Given the description of an element on the screen output the (x, y) to click on. 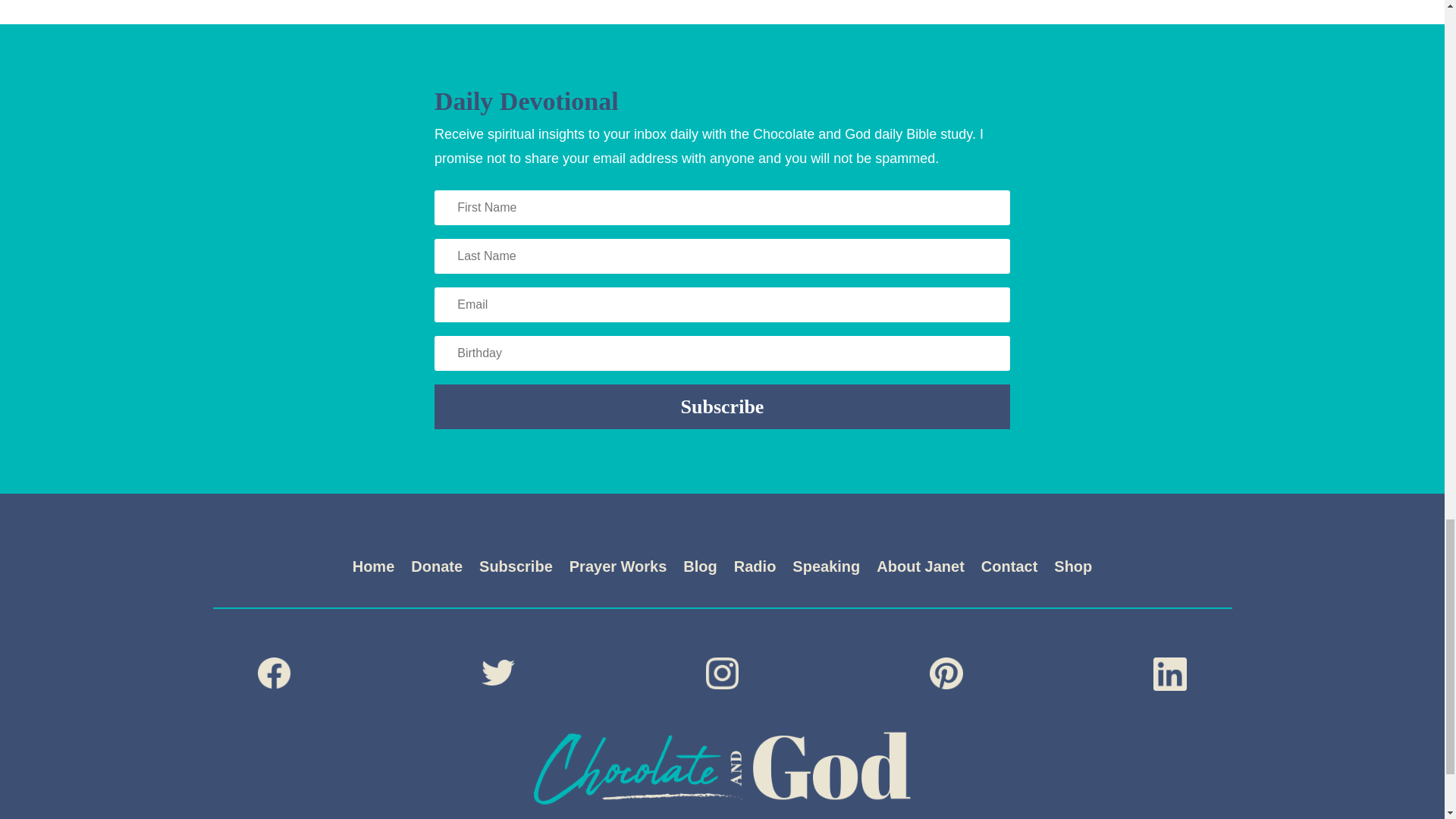
Subscribe (516, 569)
logo-footer (722, 768)
instagram-footer-icon (722, 673)
facebok-footer-icon (274, 673)
twitter-footer-icon (498, 672)
Prayer Works (617, 569)
Blog (699, 569)
Subscribe (721, 406)
Donate (436, 569)
linkedin-footer-icon (1169, 674)
pinterest-footer-icon (946, 673)
Home (373, 569)
